Given the description of an element on the screen output the (x, y) to click on. 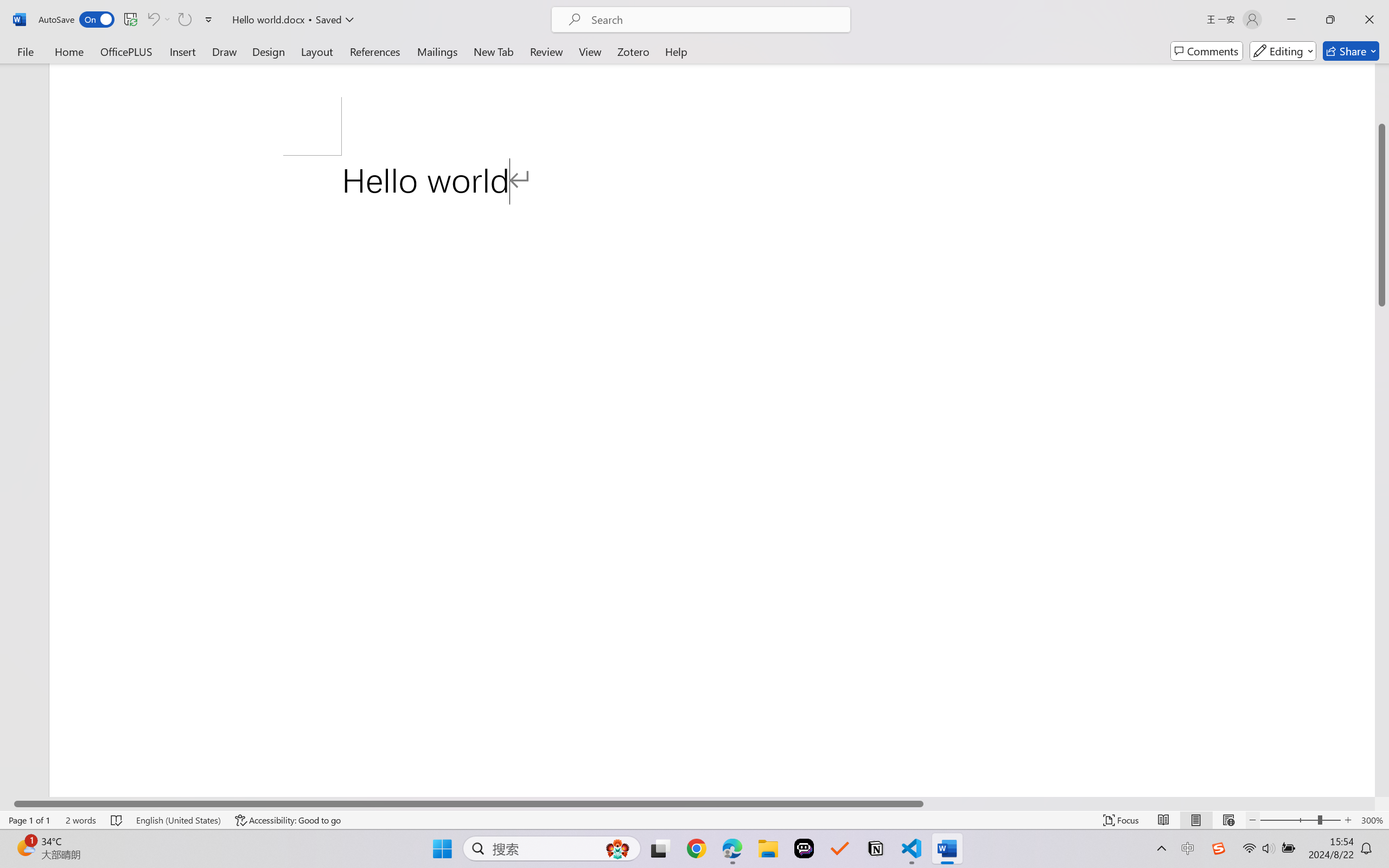
Review (546, 51)
Mode (1283, 50)
More Options (167, 19)
Class: Image (1218, 847)
Quick Access Toolbar (127, 19)
Can't Undo (158, 19)
Language English (United States) (178, 819)
Share (1350, 51)
Focus  (1121, 819)
Class: MsoCommandBar (694, 819)
Home (69, 51)
Restore Down (1330, 19)
Microsoft search (715, 19)
